Given the description of an element on the screen output the (x, y) to click on. 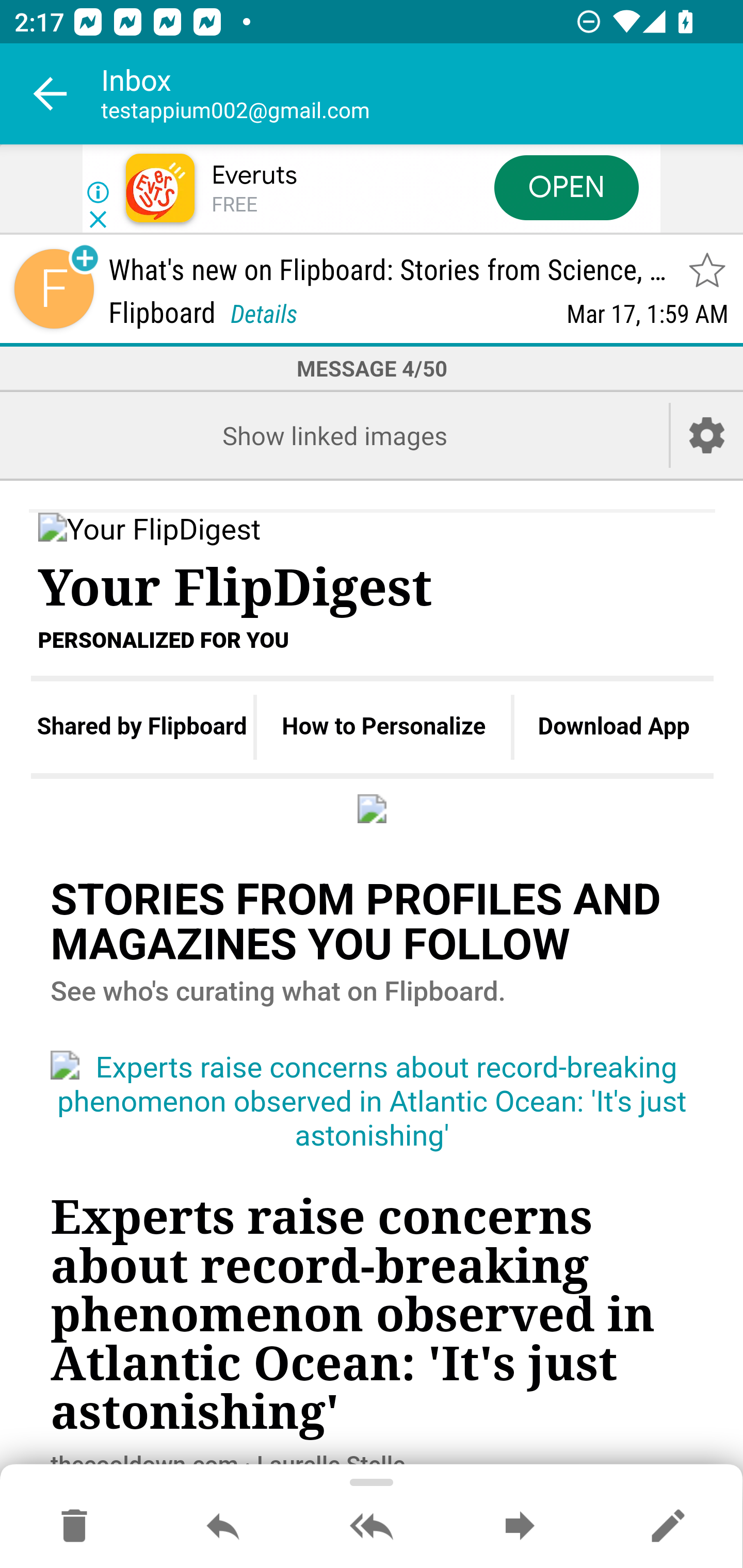
Navigate up (50, 93)
Inbox testappium002@gmail.com (422, 93)
OPEN (566, 187)
Everuts (253, 175)
FREE (234, 204)
Sender contact button (53, 289)
Show linked images (334, 435)
Account setup (706, 435)
Shared by Flipboard (141, 727)
How to Personalize (384, 727)
Download App (613, 727)
data: (372, 807)
Move to Deleted (74, 1527)
Reply (222, 1527)
Reply all (371, 1527)
Forward (519, 1527)
Reply as new (667, 1527)
